Given the description of an element on the screen output the (x, y) to click on. 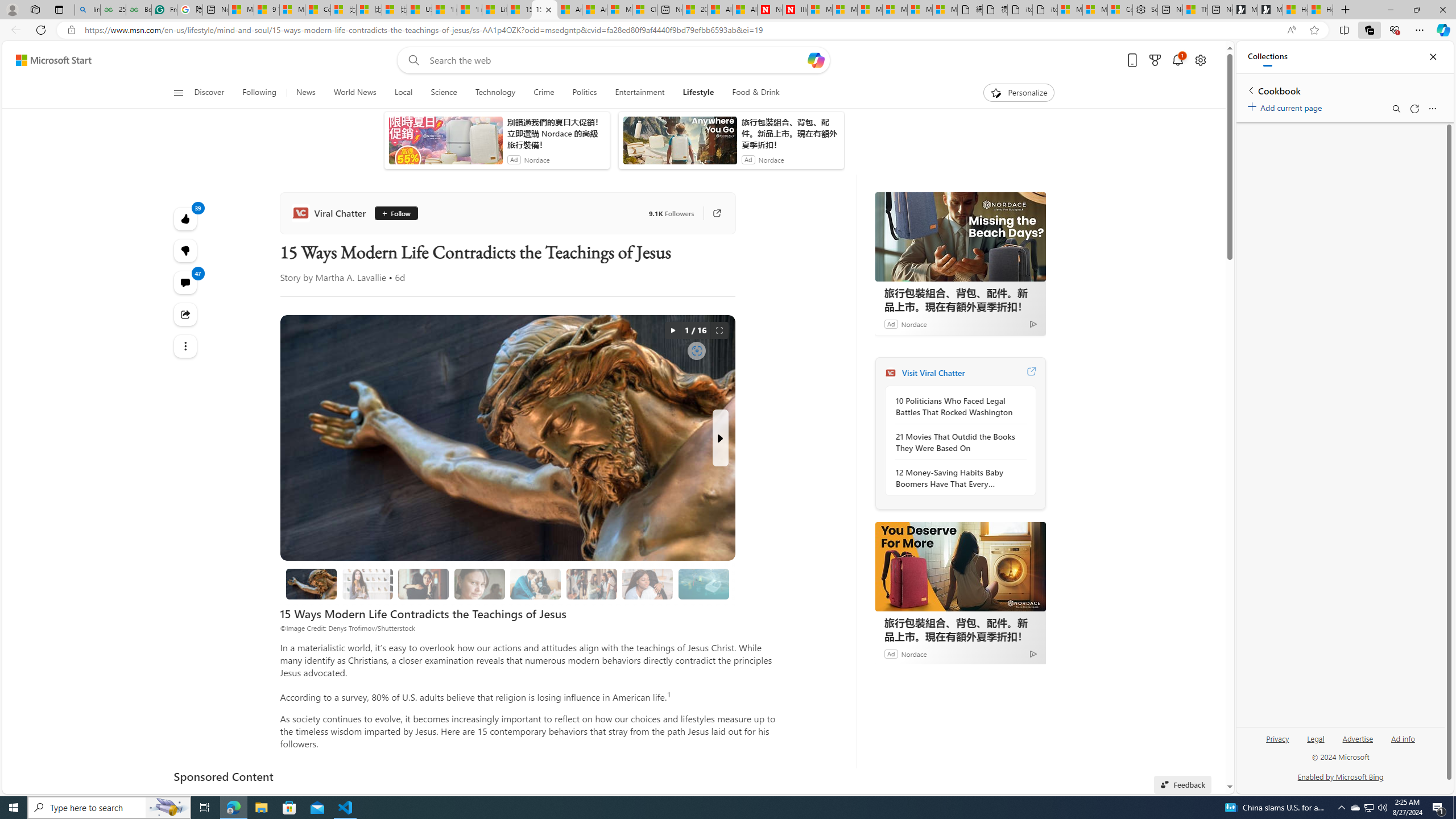
View comments 47 Comment (184, 282)
Ad info (1402, 738)
Settings and more (Alt+F) (1419, 29)
Viral Chatter (889, 372)
Crime (543, 92)
Web search (411, 60)
To get missing image descriptions, open the context menu. (995, 92)
Enter your search term (617, 59)
Restore (1416, 9)
Class: at-item (184, 345)
How to Use a TV as a Computer Monitor (1320, 9)
Settings (1144, 9)
App bar (728, 29)
Microsoft rewards (1154, 60)
